Given the description of an element on the screen output the (x, y) to click on. 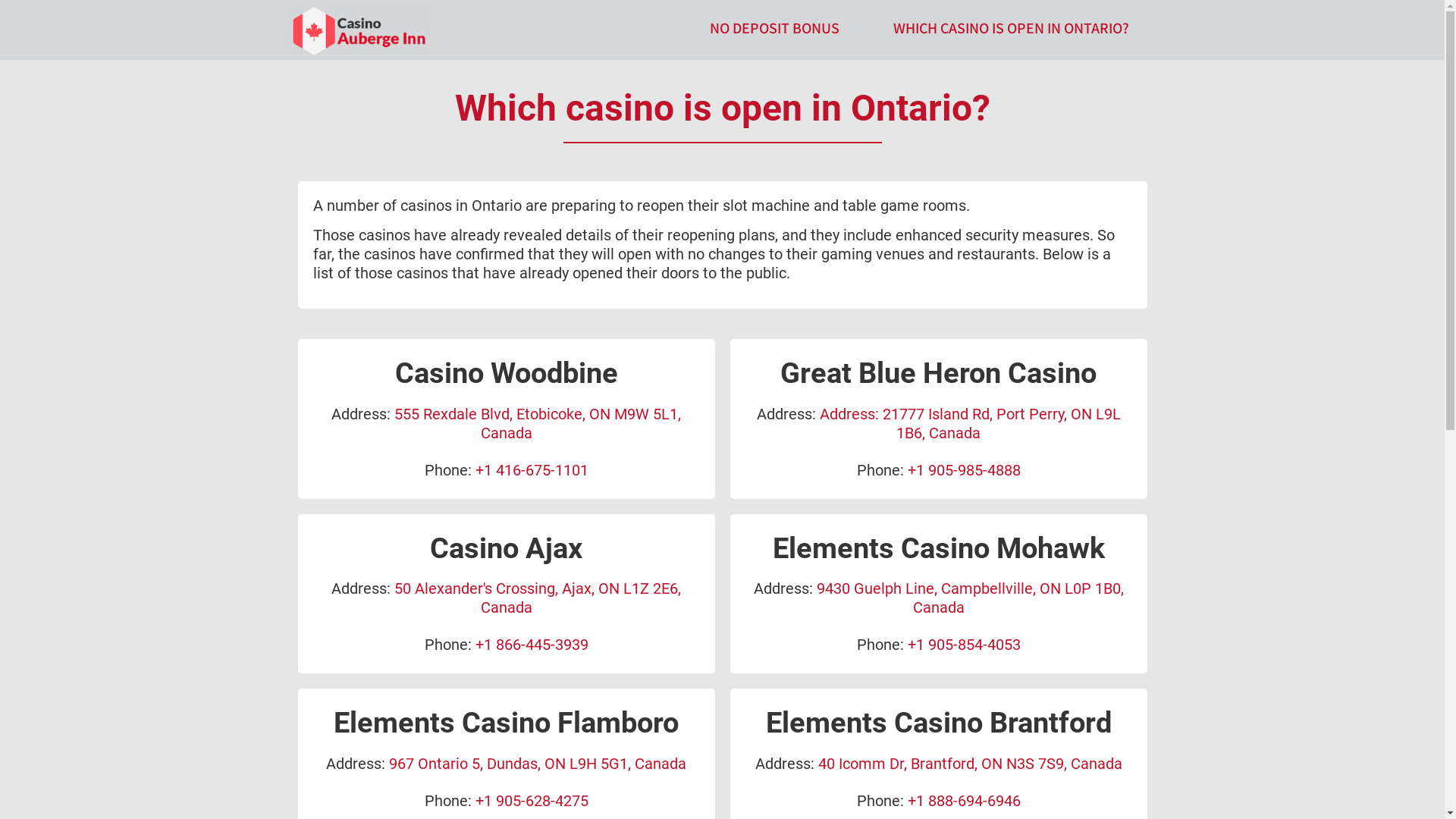
9430 Guelph Line, Campbellville, ON L0P 1B0, Canada Element type: text (969, 597)
WHICH CASINO IS OPEN IN ONTARIO? Element type: text (1010, 28)
50 Alexander's Crossing, Ajax, ON L1Z 2E6, Canada Element type: text (537, 597)
NO DEPOSIT BONUS Element type: text (774, 28)
+1 416-675-1101 Element type: text (530, 470)
Address: 21777 Island Rd, Port Perry, ON L9L 1B6, Canada Element type: text (969, 423)
+1 905-854-4053 Element type: text (962, 644)
+1 866-445-3939 Element type: text (530, 644)
967 Ontario 5, Dundas, ON L9H 5G1, Canada Element type: text (537, 763)
40 Icomm Dr, Brantford, ON N3S 7S9, Canada Element type: text (969, 763)
555 Rexdale Blvd, Etobicoke, ON M9W 5L1, Canada Element type: text (537, 423)
+1 888-694-6946 Element type: text (962, 800)
+1 905-985-4888 Element type: text (962, 470)
+1 905-628-4275 Element type: text (530, 800)
